Given the description of an element on the screen output the (x, y) to click on. 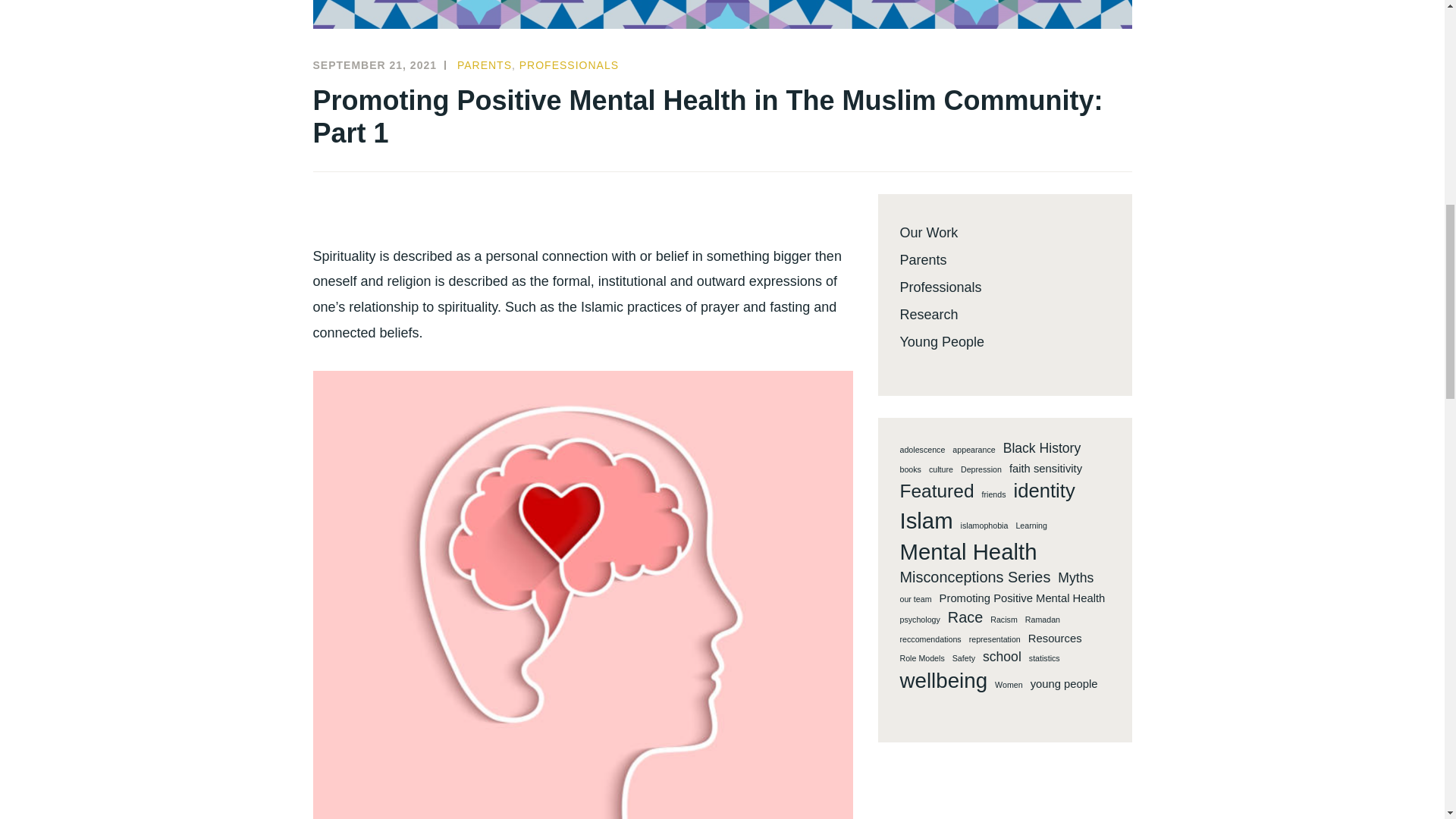
adolescence (921, 449)
Research (928, 314)
Parents (922, 259)
culture (940, 469)
books (909, 469)
PARENTS (484, 64)
Professionals (940, 287)
Black History (1042, 447)
SEPTEMBER 21, 2021 (374, 64)
Our Work (928, 232)
Young People (941, 341)
PROFESSIONALS (568, 64)
appearance (973, 449)
